Given the description of an element on the screen output the (x, y) to click on. 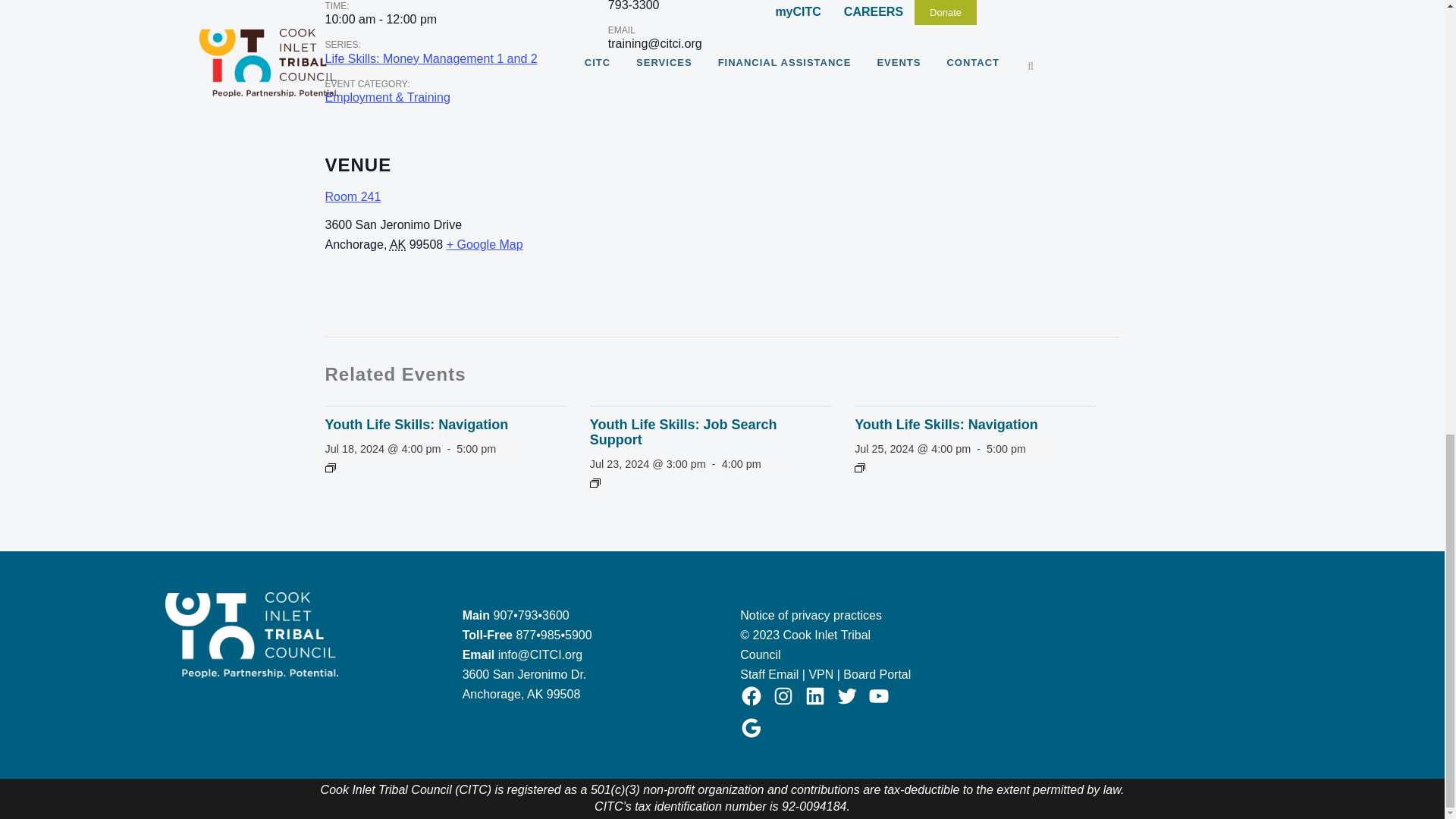
Click to view a Google Map (484, 244)
Event Series (594, 483)
2023-03-16 (380, 19)
Life Skills: Money Management 1 and 2 (430, 58)
Google maps iframe displaying the address to Room 241 (873, 232)
Event Series (329, 468)
Alaska (398, 244)
Event Series (859, 468)
